Given the description of an element on the screen output the (x, y) to click on. 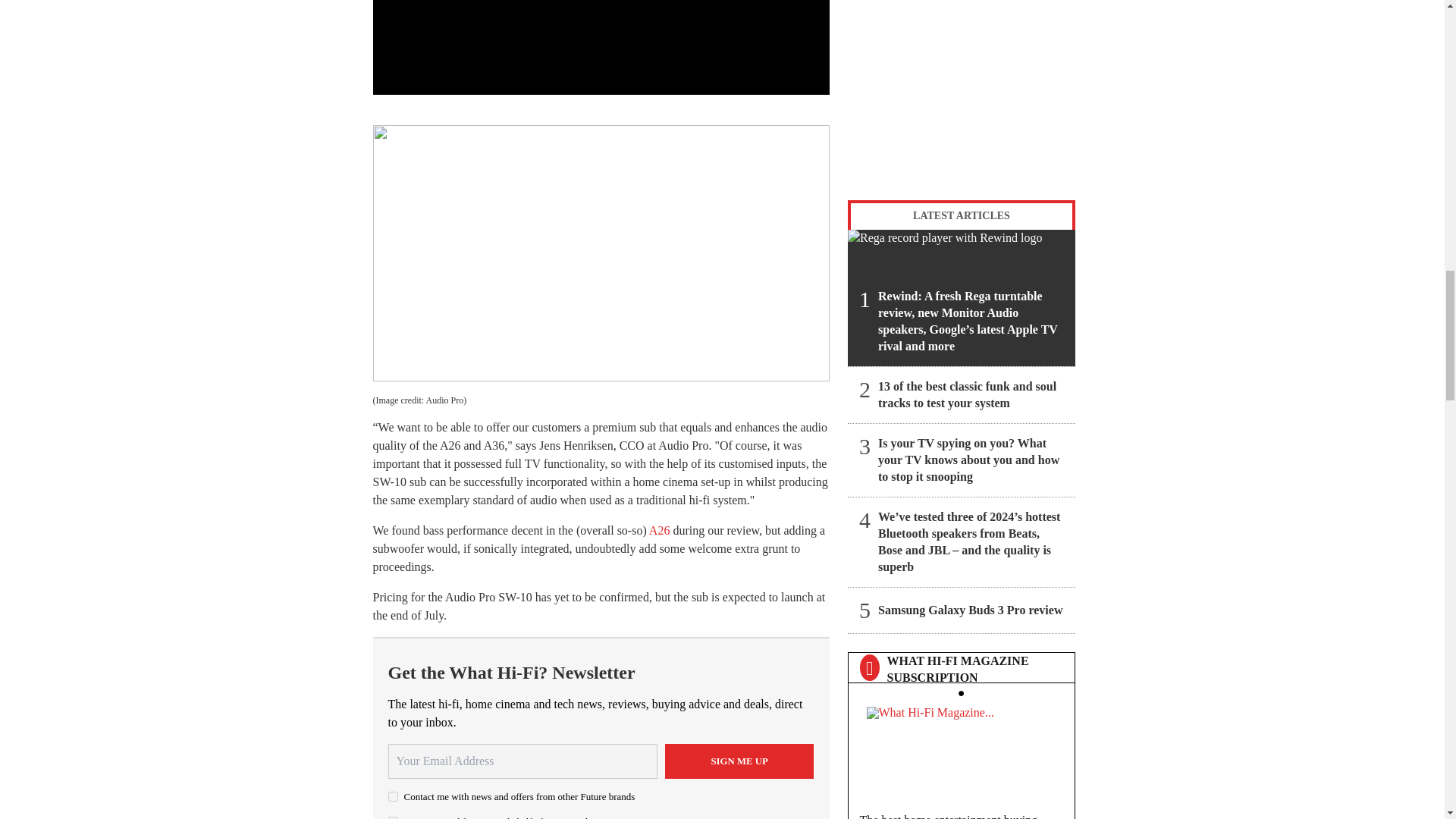
Sign me up (739, 760)
on (392, 796)
What Hi-Fi Magazine... (960, 750)
